Given the description of an element on the screen output the (x, y) to click on. 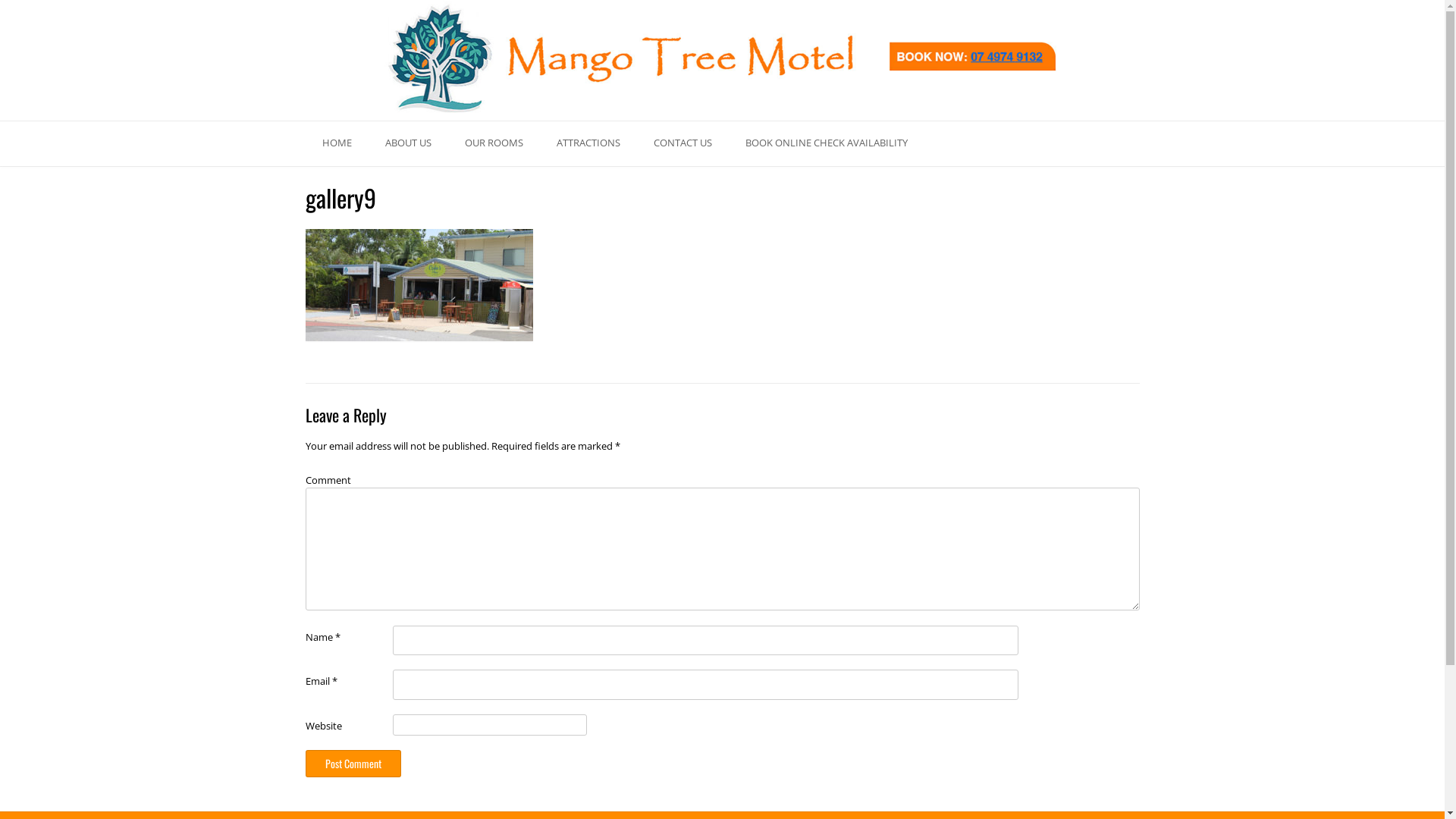
HOME Element type: text (335, 143)
Post Comment Element type: text (352, 763)
mangotreemotel Element type: hover (721, 59)
CONTACT US Element type: text (682, 143)
ATTRACTIONS Element type: text (588, 143)
OUR ROOMS Element type: text (493, 143)
ABOUT US Element type: text (408, 143)
BOOK ONLINE CHECK AVAILABILITY Element type: text (825, 143)
